Given the description of an element on the screen output the (x, y) to click on. 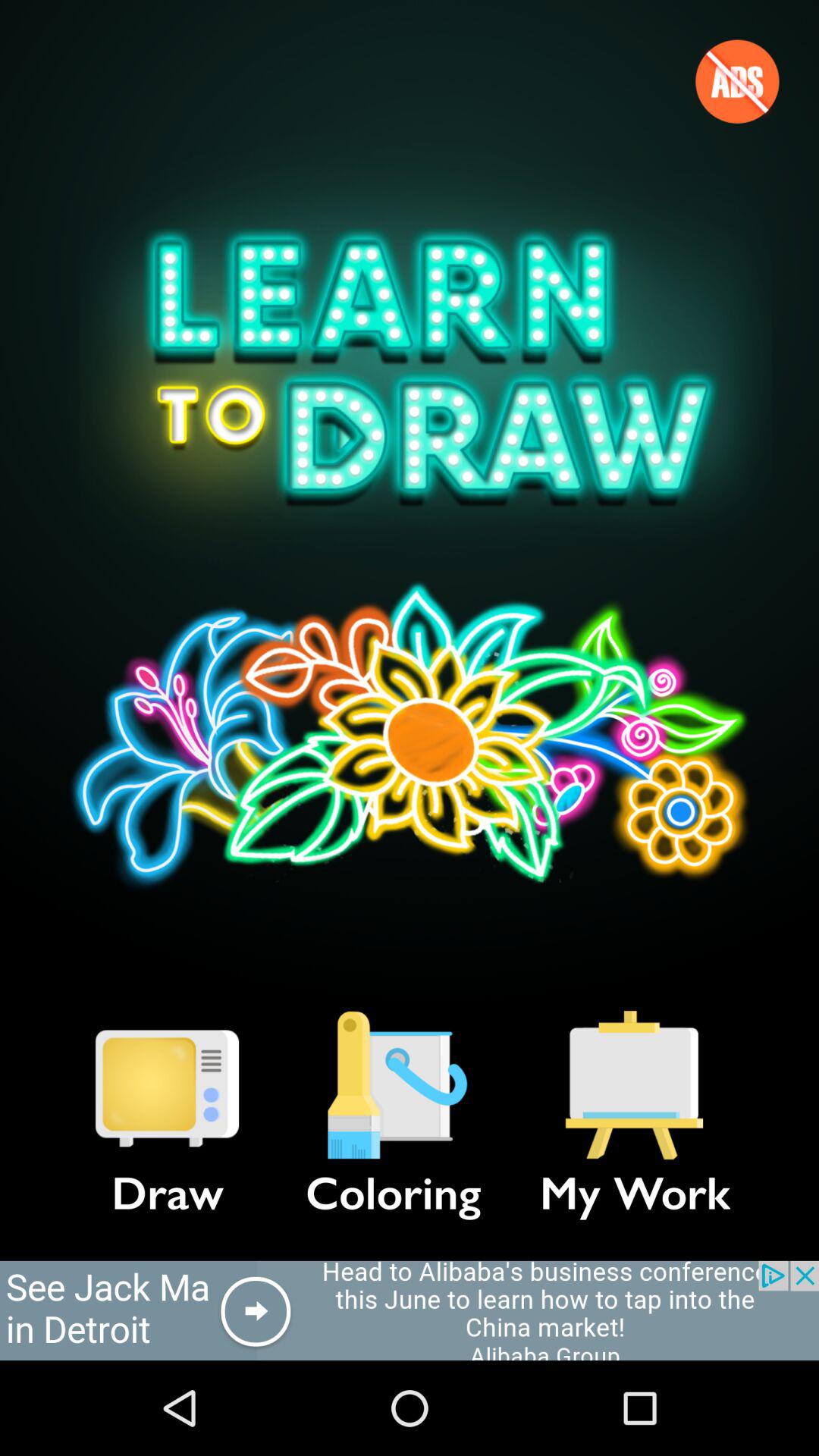
turn off the icon next to my work icon (393, 1085)
